Given the description of an element on the screen output the (x, y) to click on. 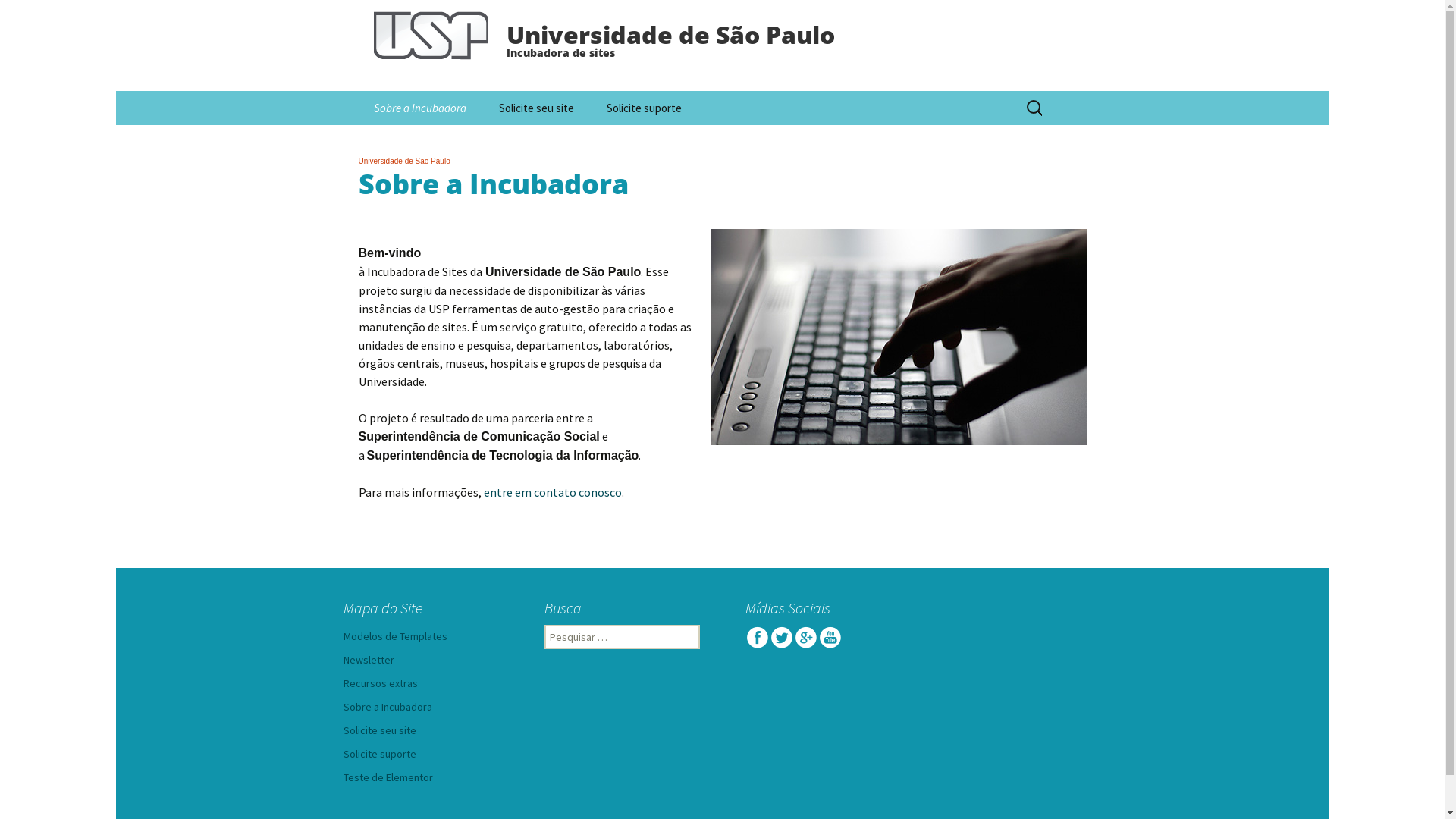
Facebook Element type: hover (756, 636)
Pesquisar Element type: text (40, 15)
entre em contato conosco Element type: text (552, 491)
Solicite suporte Element type: text (643, 108)
Twitter Element type: hover (780, 636)
YouTube Element type: hover (829, 636)
Modelos de Templates Element type: text (394, 636)
Sobre a Incubadora Element type: text (418, 108)
Sobre a Incubadora Element type: text (386, 706)
Solicite suporte Element type: text (378, 753)
Teste de Elementor Element type: text (387, 777)
Solicite seu site Element type: text (378, 730)
Newsletter Element type: text (367, 659)
Google+ Element type: hover (805, 636)
Recursos extras Element type: text (379, 683)
Solicite seu site Element type: text (536, 108)
Pesquisar Element type: text (18, 16)
